Given the description of an element on the screen output the (x, y) to click on. 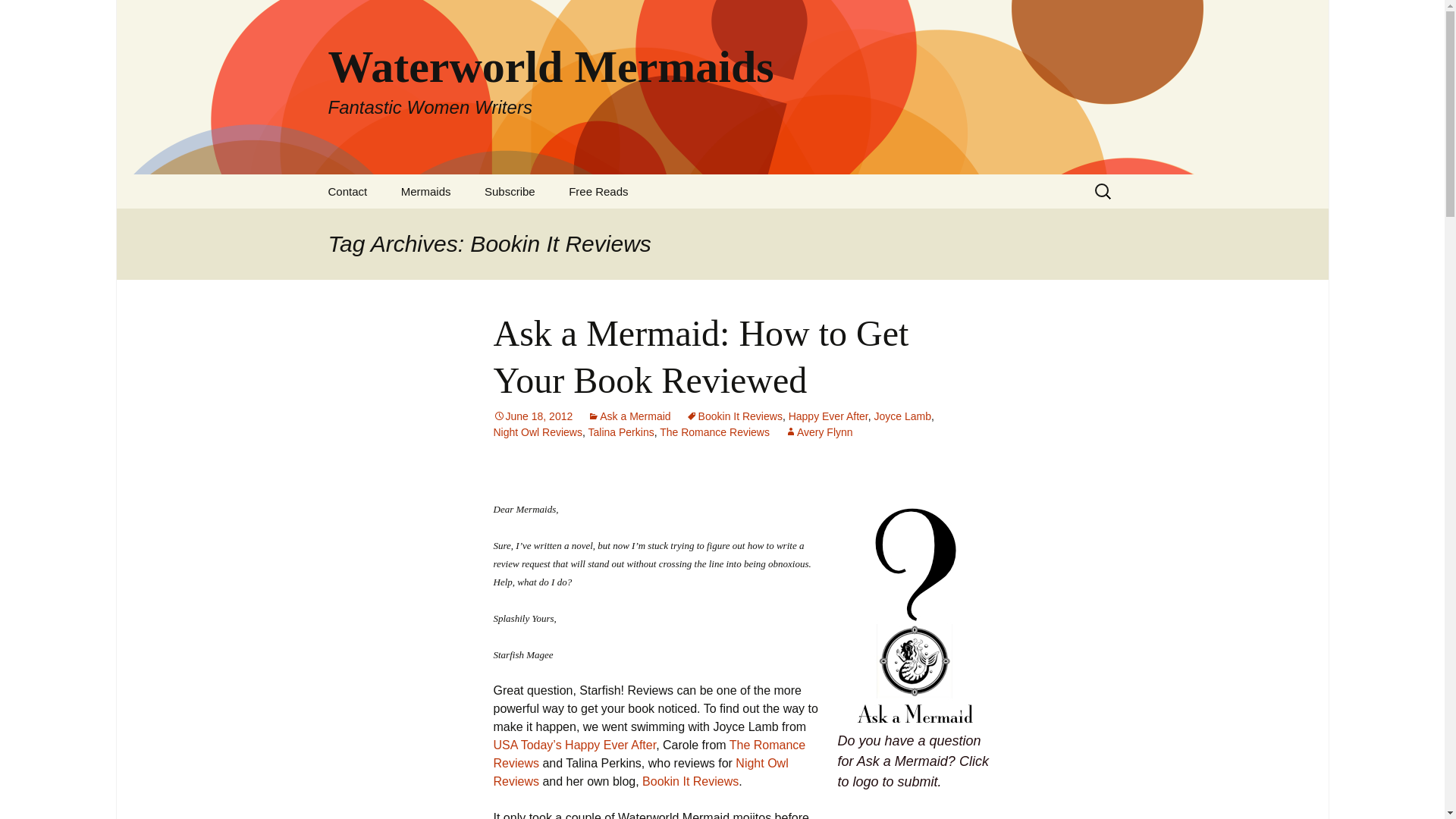
Ask a Mermaid: How to Get Your Book Reviewed (700, 356)
Subscribe (509, 191)
Contact (347, 191)
Happy Ever After (18, 15)
Talina Perkins (828, 416)
View all posts by Avery Flynn (620, 431)
